Given the description of an element on the screen output the (x, y) to click on. 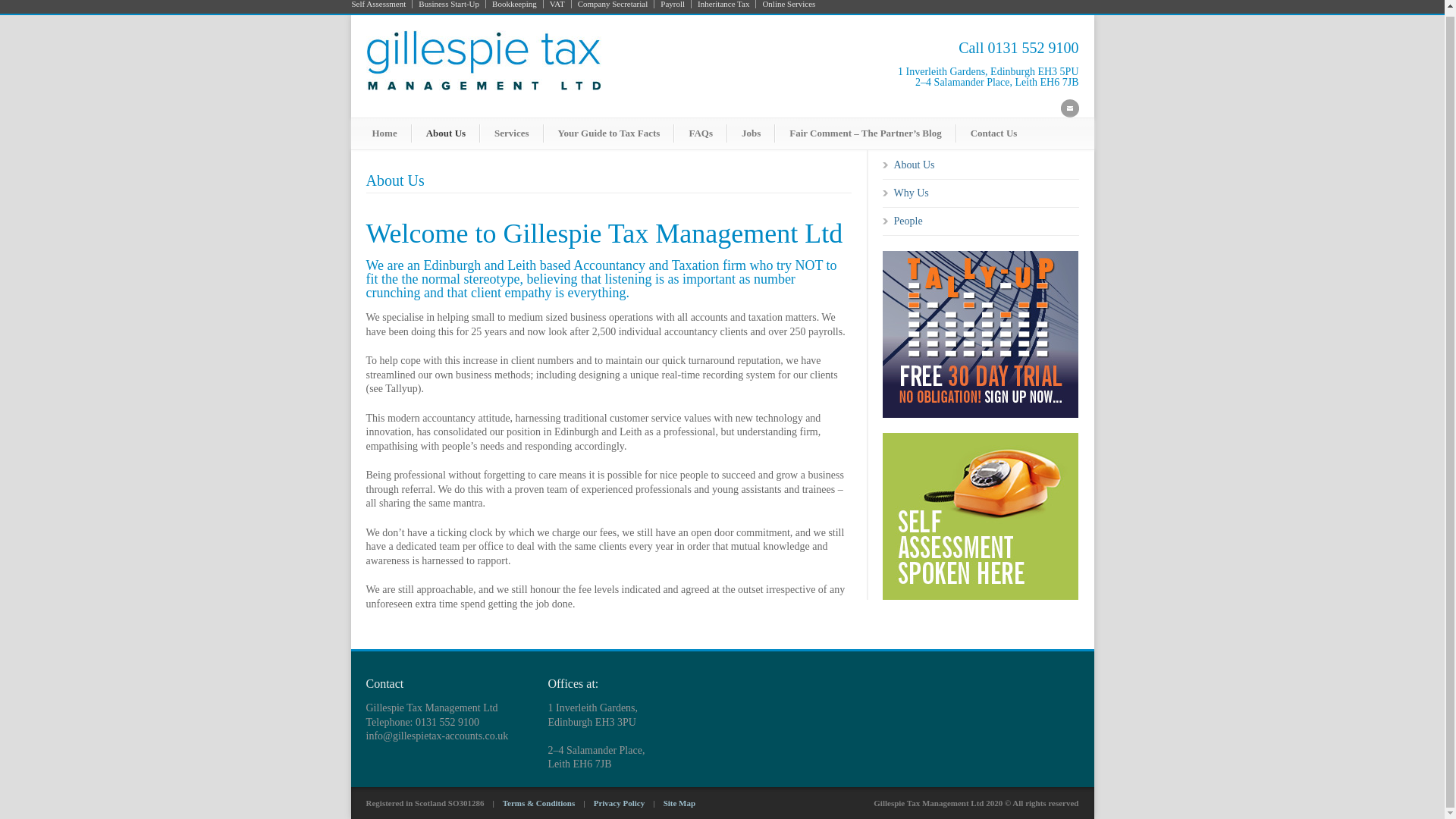
FAQs (700, 133)
Payroll (672, 4)
People (907, 220)
About Us (446, 133)
Services (511, 133)
Online Services (785, 4)
Inheritance Tax (723, 4)
Business Start-Up (449, 4)
Company Secretarial (613, 4)
Self Assessment (382, 4)
About Us (913, 164)
Your Guide to Tax Facts (609, 133)
Home (384, 133)
Bookkeeping (514, 4)
Contact Us (993, 133)
